Given the description of an element on the screen output the (x, y) to click on. 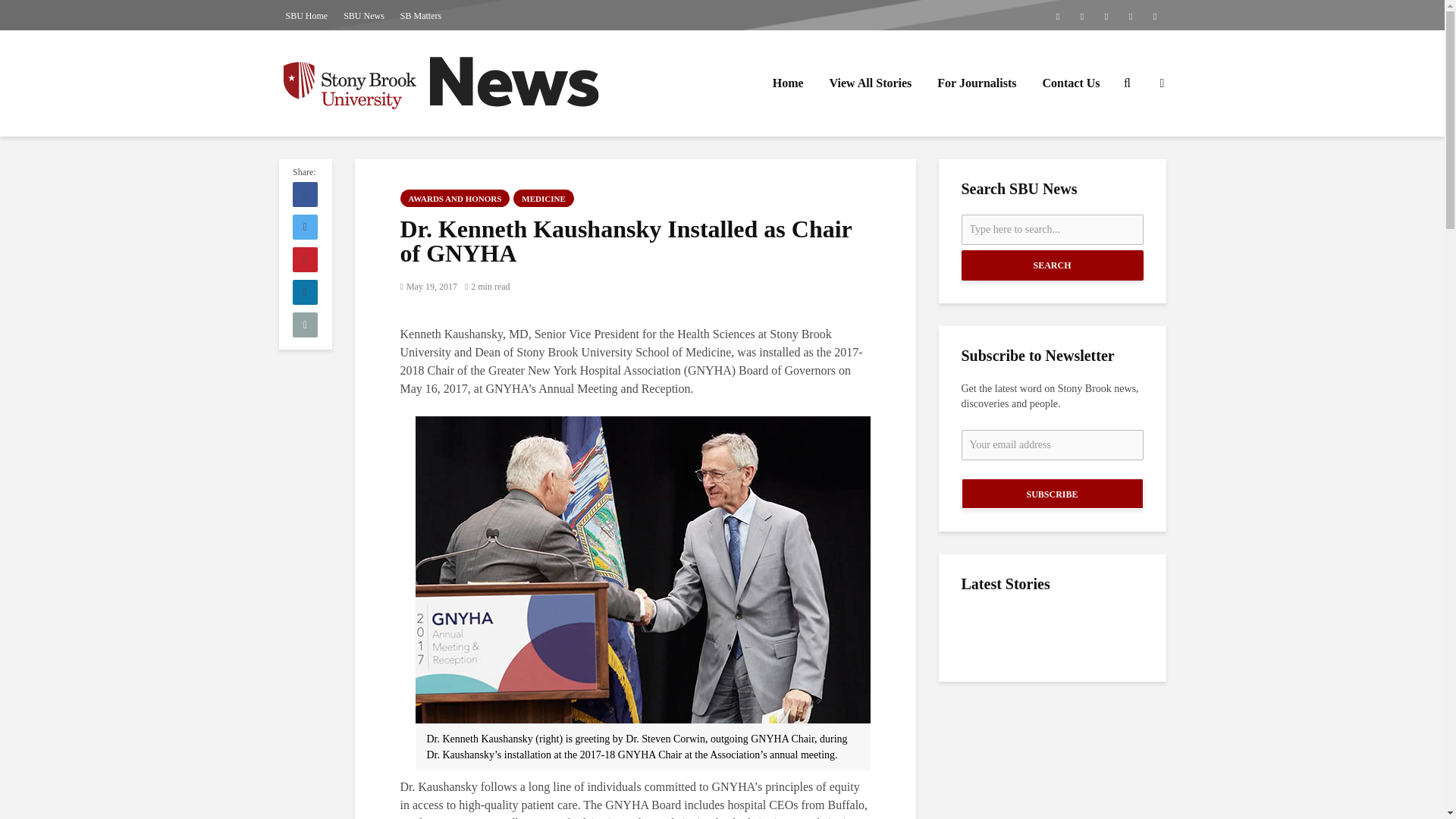
Home (788, 82)
SB Matters (420, 15)
Contact Us (1071, 82)
For Journalists (976, 82)
SBU Home (306, 15)
View All Stories (870, 82)
Subscribe (1051, 493)
SBU News (363, 15)
